Given the description of an element on the screen output the (x, y) to click on. 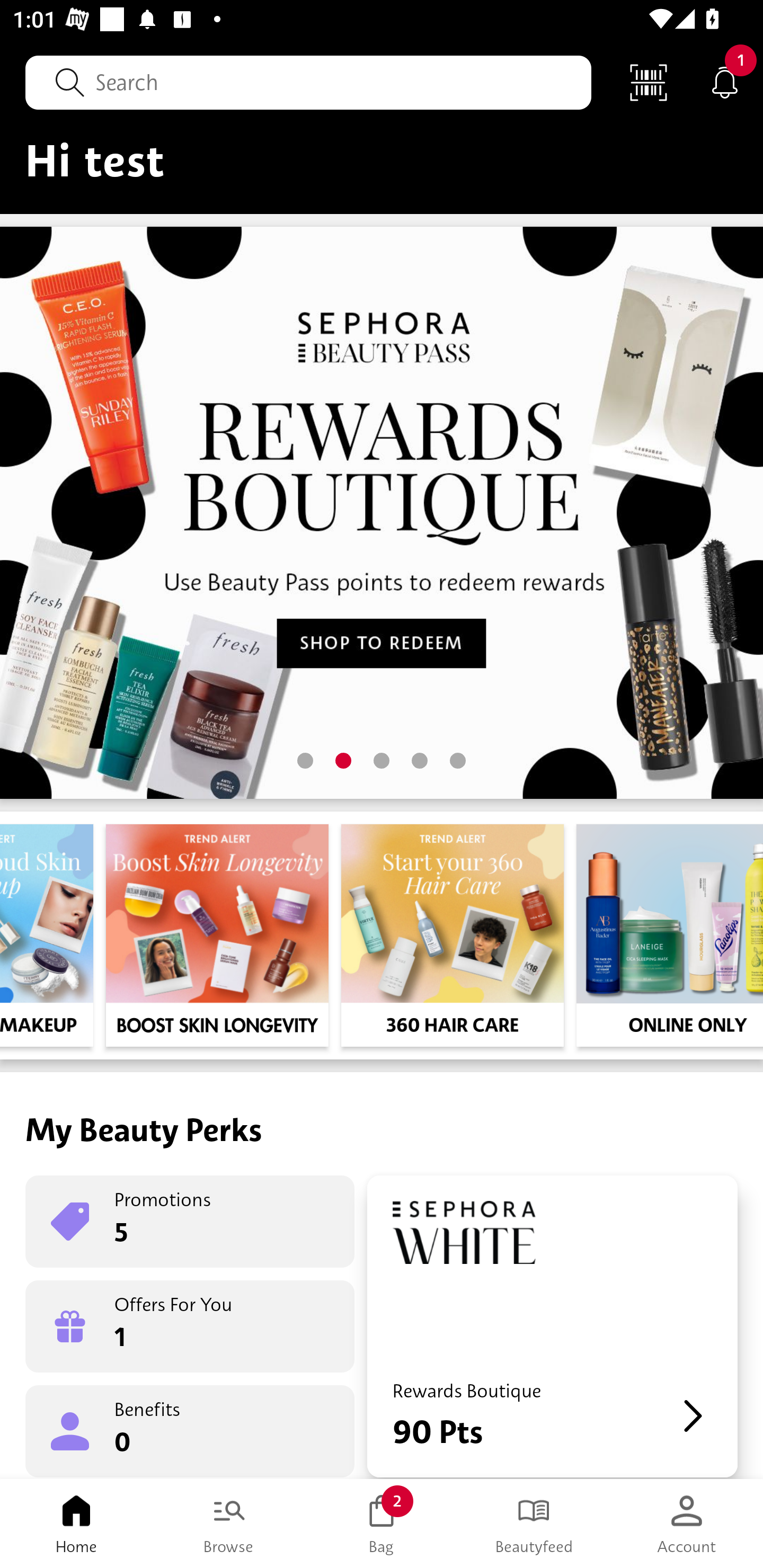
Scan Code (648, 81)
Notifications (724, 81)
Search (308, 81)
Promotions 5 (189, 1221)
Rewards Boutique 90 Pts (552, 1326)
Offers For You 1 (189, 1326)
Benefits 0 (189, 1430)
Browse (228, 1523)
Bag 2 Bag (381, 1523)
Beautyfeed (533, 1523)
Account (686, 1523)
